Given the description of an element on the screen output the (x, y) to click on. 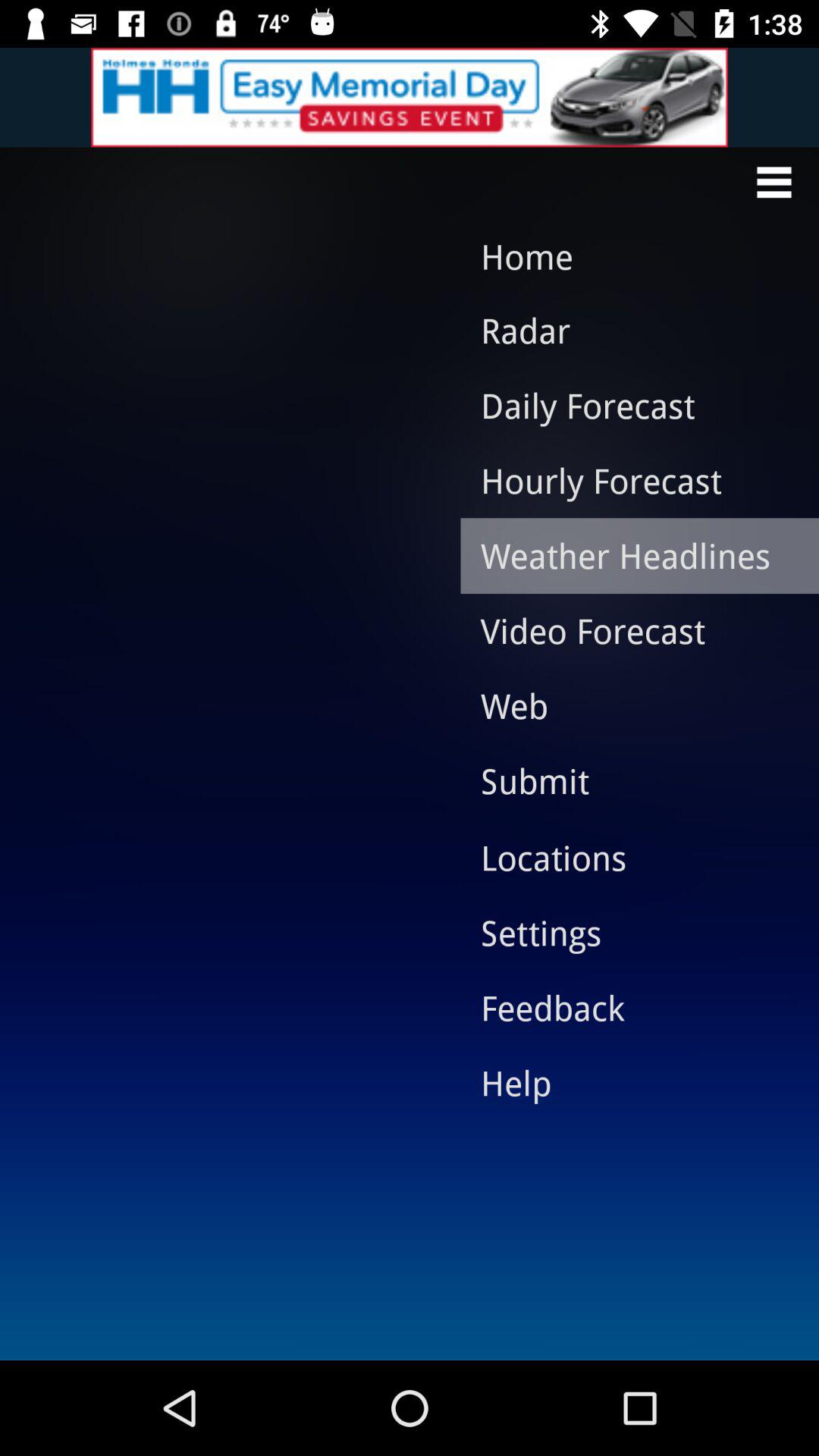
turn off the icon above weather headlines (627, 480)
